Given the description of an element on the screen output the (x, y) to click on. 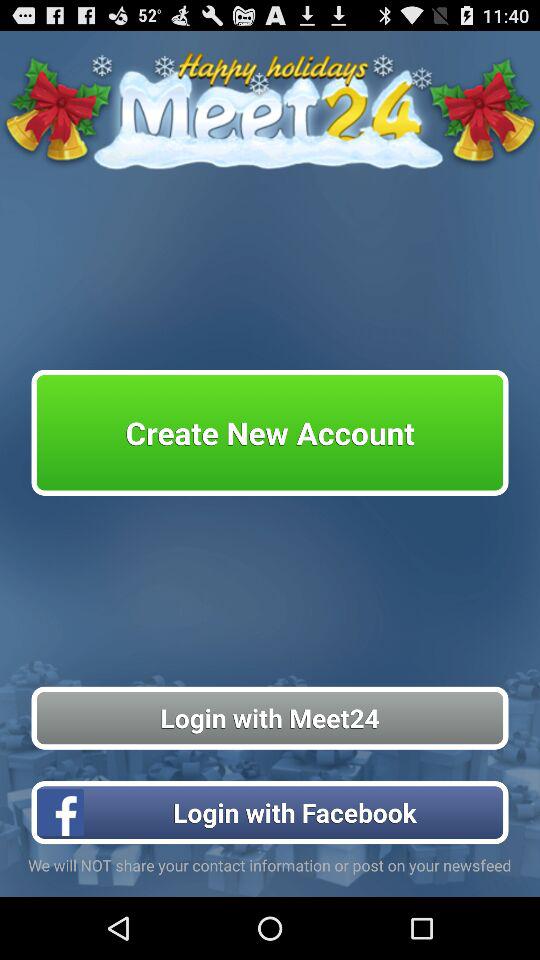
press the create new account button (269, 432)
